Given the description of an element on the screen output the (x, y) to click on. 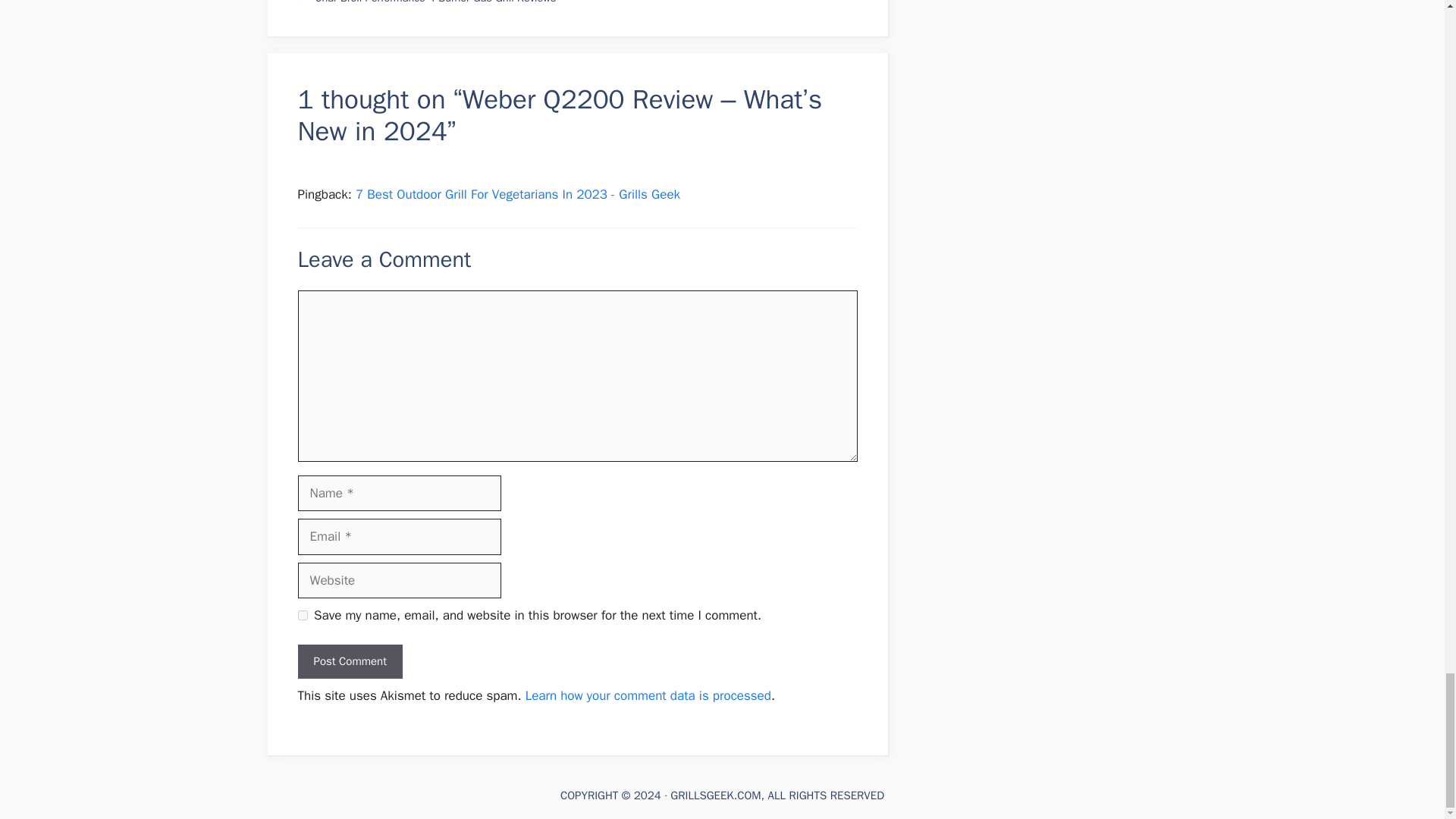
Post Comment (349, 661)
Learn how your comment data is processed (648, 695)
Post Comment (349, 661)
Char-Broil Performance 4 Burner Gas Grill Reviews (435, 2)
yes (302, 614)
7 Best Outdoor Grill For Vegetarians In 2023 - Grills Geek (517, 194)
